Given the description of an element on the screen output the (x, y) to click on. 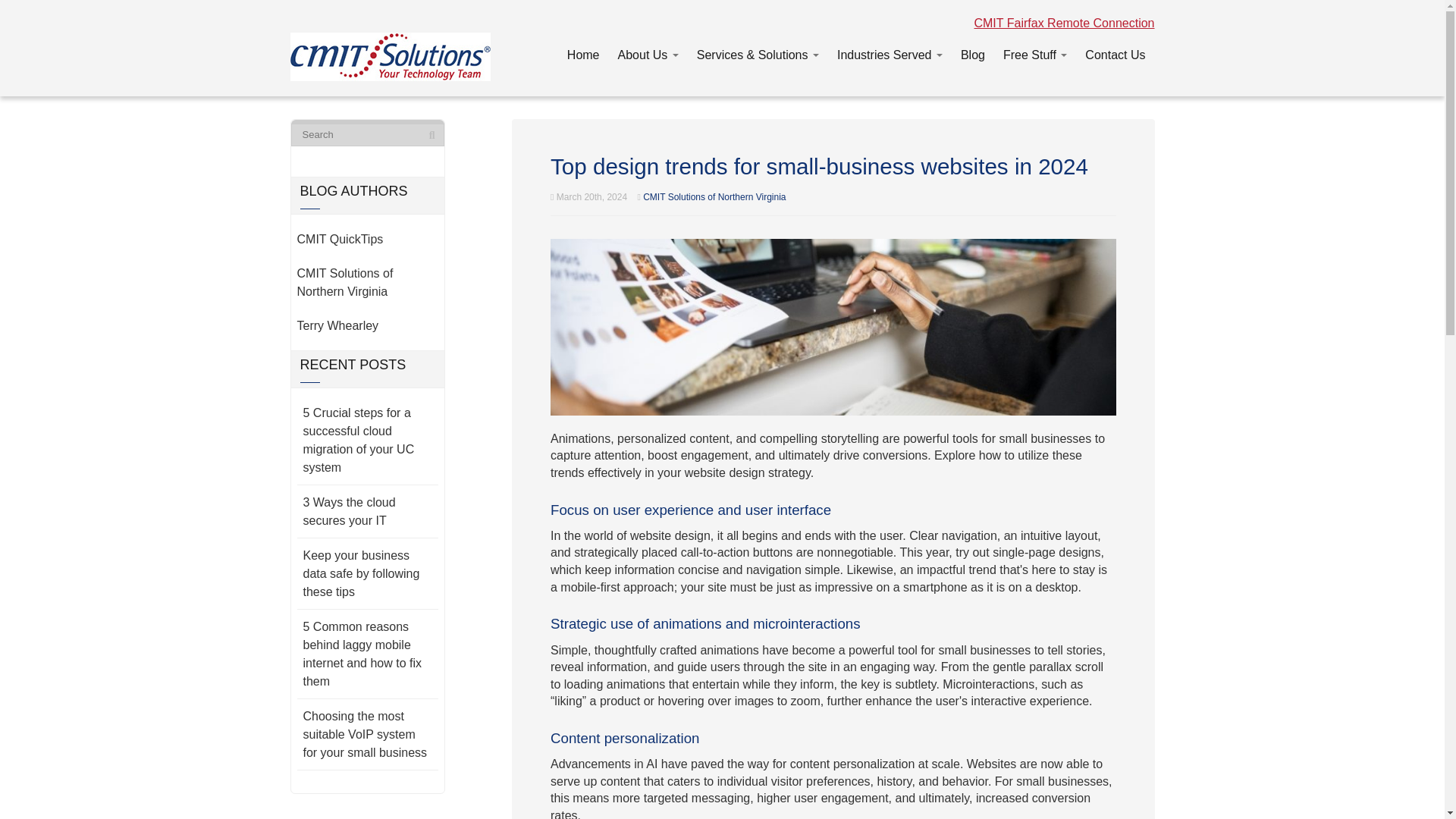
Blog (973, 51)
Home (582, 51)
Free Stuff (1034, 51)
Posts by CMIT Solutions of Northern Virginia (714, 196)
About Us (647, 51)
CMIT Fairfax Remote Connection (1064, 22)
Industries Served (890, 51)
